Given the description of an element on the screen output the (x, y) to click on. 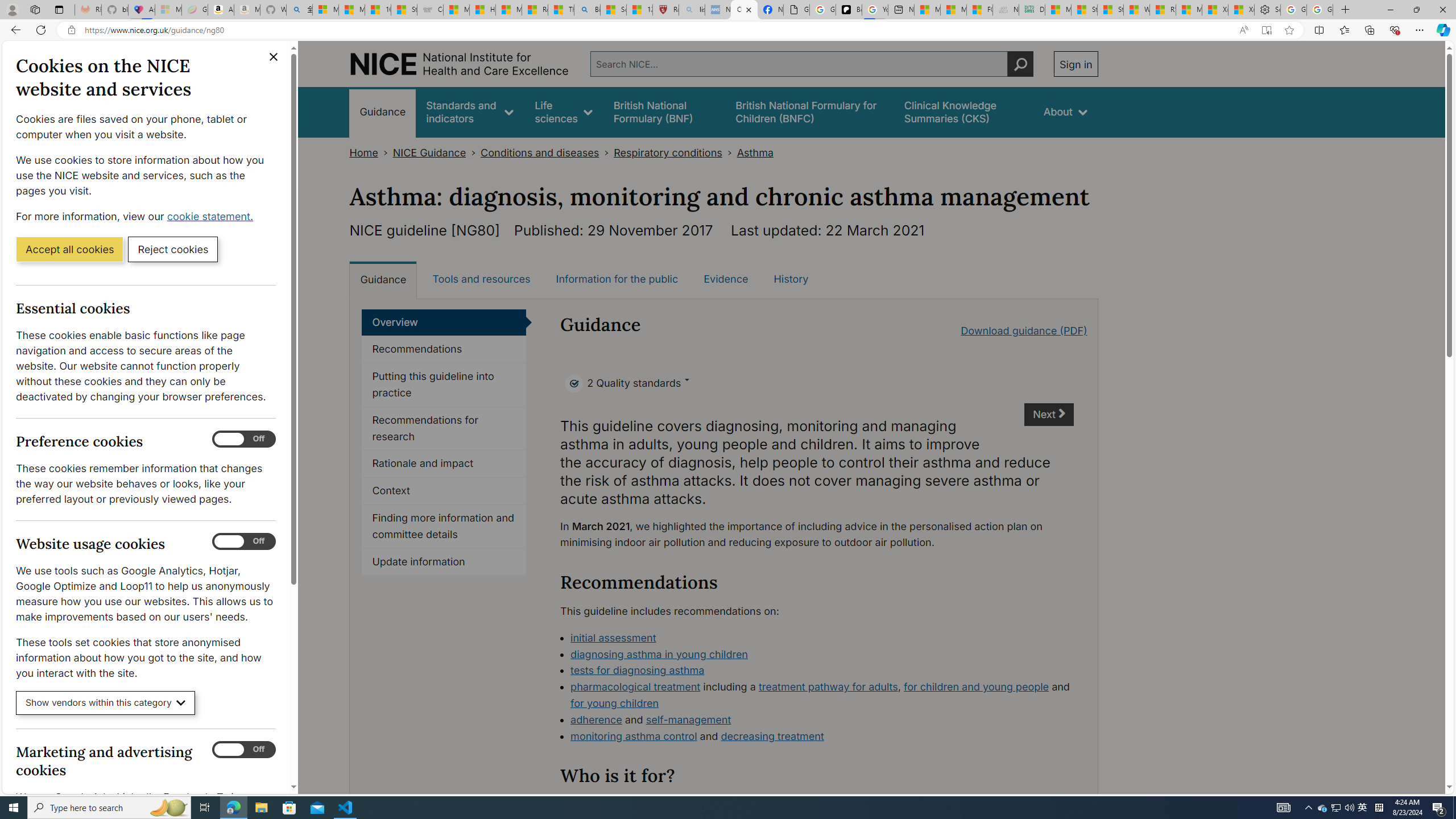
About (1064, 111)
Life sciences (563, 111)
Information for the public (617, 279)
Putting this guideline into practice (443, 385)
Respiratory conditions (667, 152)
12 Popular Science Lies that Must be Corrected (639, 9)
